Given the description of an element on the screen output the (x, y) to click on. 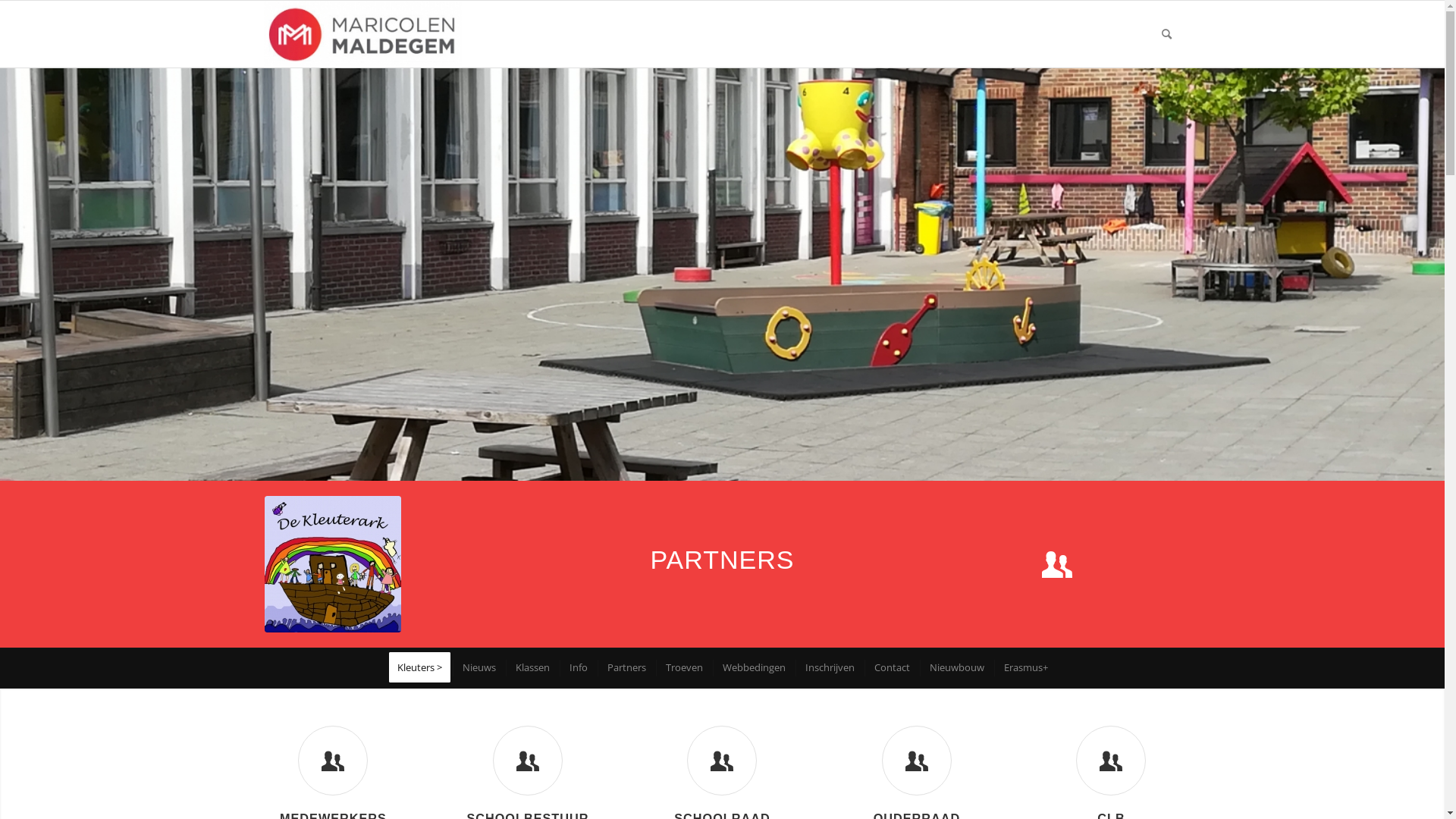
Erasmus+ Element type: text (1024, 667)
Info Element type: text (577, 667)
schoolraad Element type: hover (721, 760)
Nieuws Element type: text (477, 667)
Inschrijven Element type: text (828, 667)
CLB Element type: hover (1110, 760)
ouderraad Element type: hover (916, 760)
Kleuters > Element type: text (419, 667)
schoolbestuur Element type: hover (527, 760)
Nieuwbouw Element type: text (955, 667)
Contact Element type: text (890, 667)
Partners Element type: text (625, 667)
Klassen Element type: text (531, 667)
Webbedingen Element type: text (752, 667)
logo-kleuterark Element type: hover (332, 563)
Troeven Element type: text (682, 667)
medewerkers Element type: hover (332, 760)
